Given the description of an element on the screen output the (x, y) to click on. 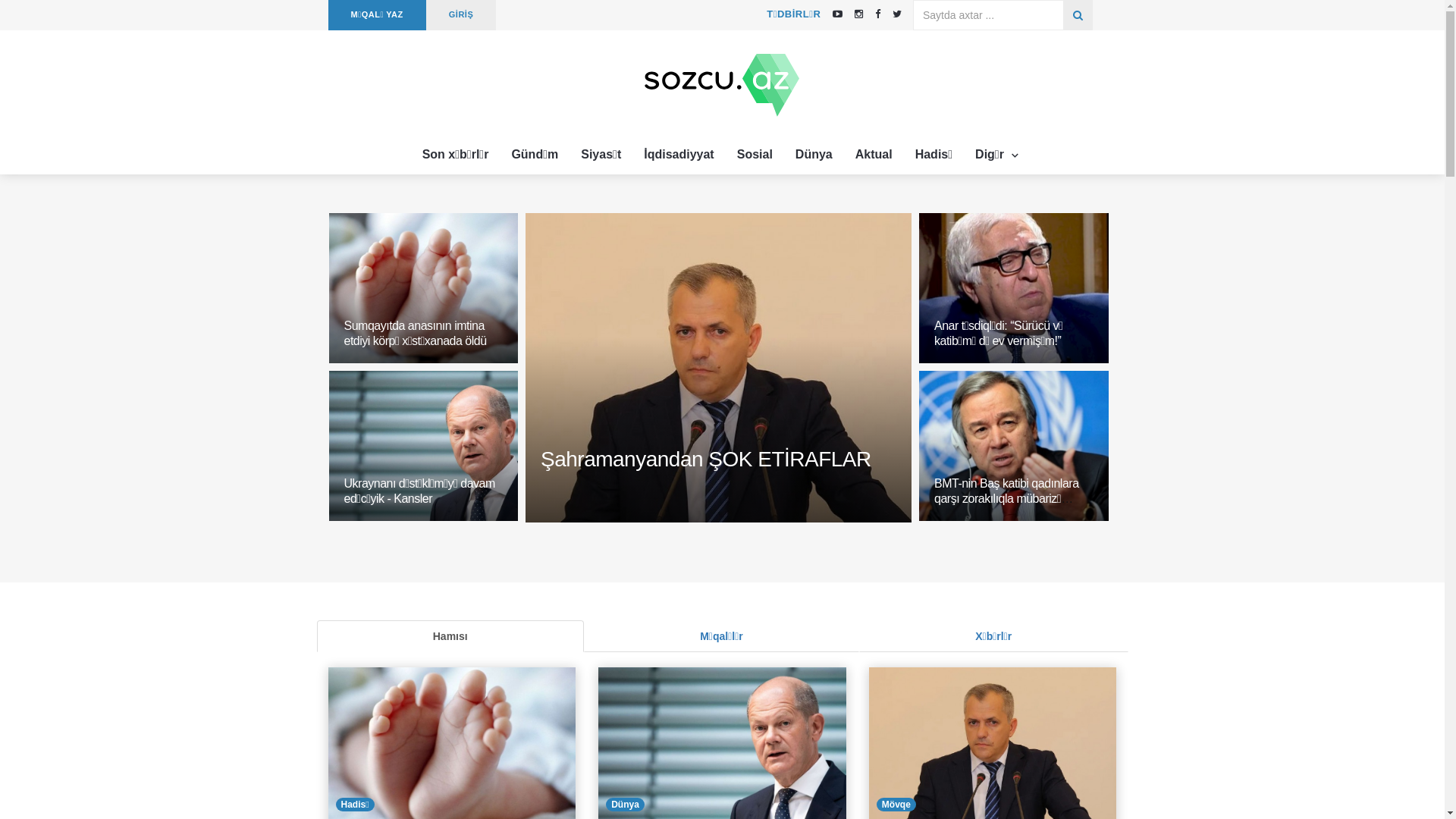
Sosial Element type: text (754, 154)
Instagram Element type: hover (858, 14)
Youtube Element type: hover (837, 14)
Aktual Element type: text (873, 154)
